Given the description of an element on the screen output the (x, y) to click on. 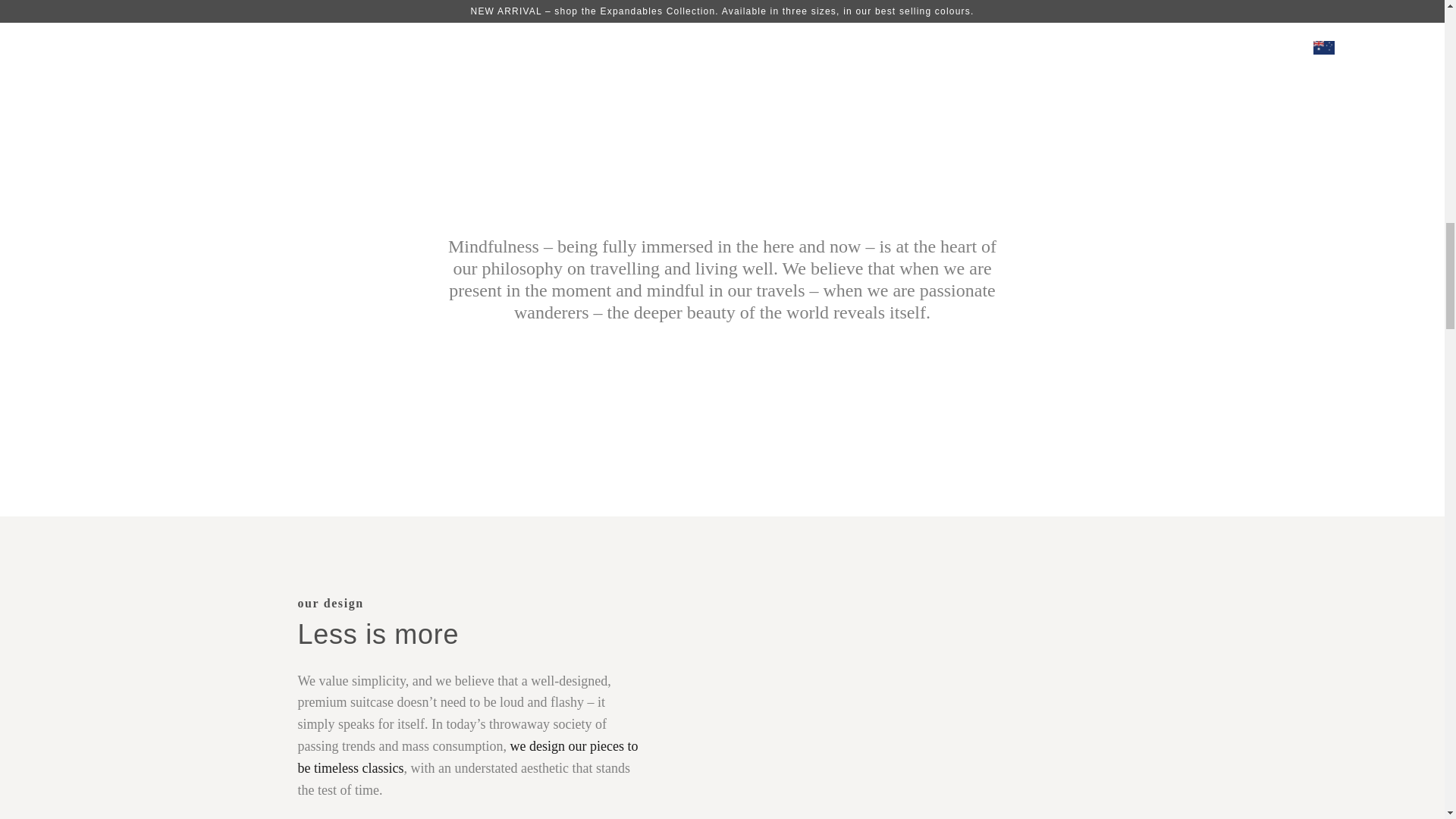
Sustainability (468, 756)
